Given the description of an element on the screen output the (x, y) to click on. 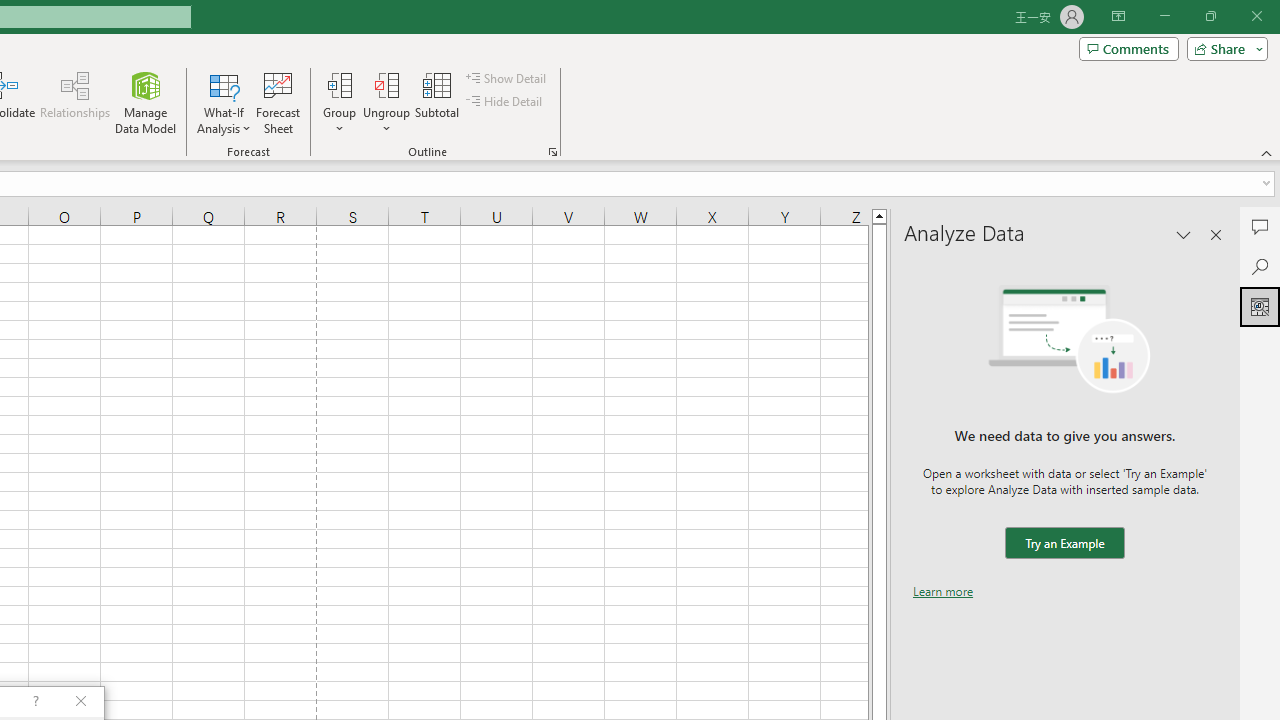
Group and Outline Settings (552, 151)
Search (1260, 266)
Relationships (75, 102)
Learn more (943, 591)
Show Detail (507, 78)
Task Pane Options (1183, 234)
Close pane (1215, 234)
Analyze Data (1260, 306)
Manage Data Model (145, 102)
